Given the description of an element on the screen output the (x, y) to click on. 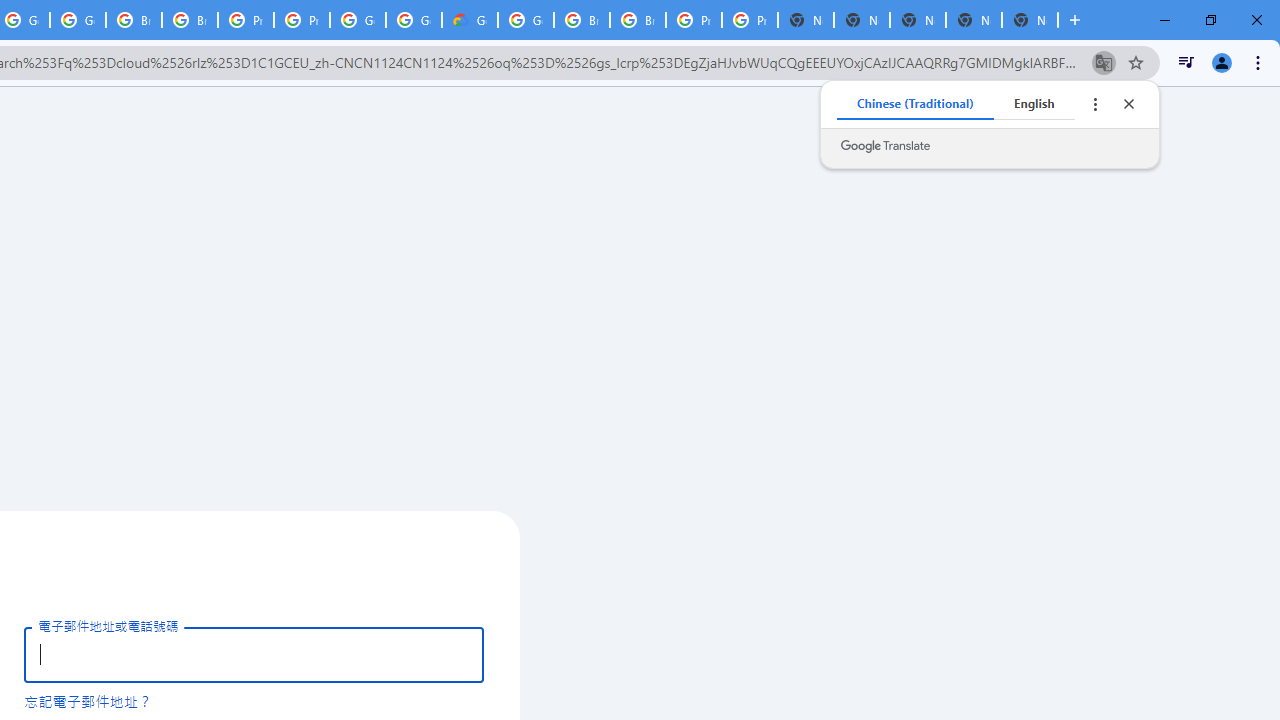
Translate options (1094, 103)
English (1034, 103)
Google Cloud Platform (525, 20)
Browse Chrome as a guest - Computer - Google Chrome Help (134, 20)
Google Cloud Platform (358, 20)
Google Cloud Platform (413, 20)
